Given the description of an element on the screen output the (x, y) to click on. 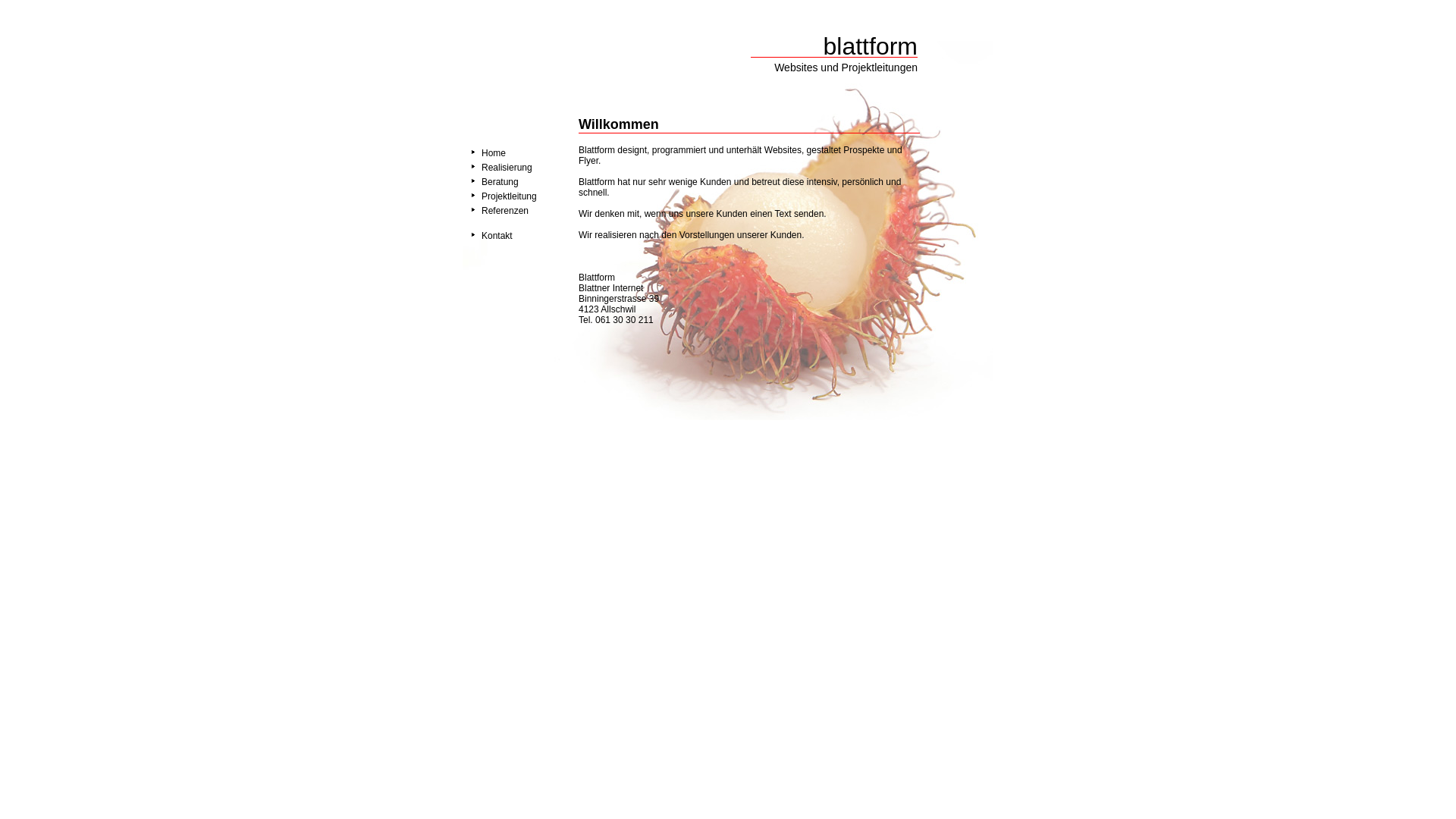
Kontakt Element type: text (496, 235)
Realisierung Element type: text (506, 167)
Referenzen Element type: text (504, 210)
Projektleitung Element type: text (508, 196)
Home Element type: text (483, 152)
Beratung Element type: text (499, 181)
